Given the description of an element on the screen output the (x, y) to click on. 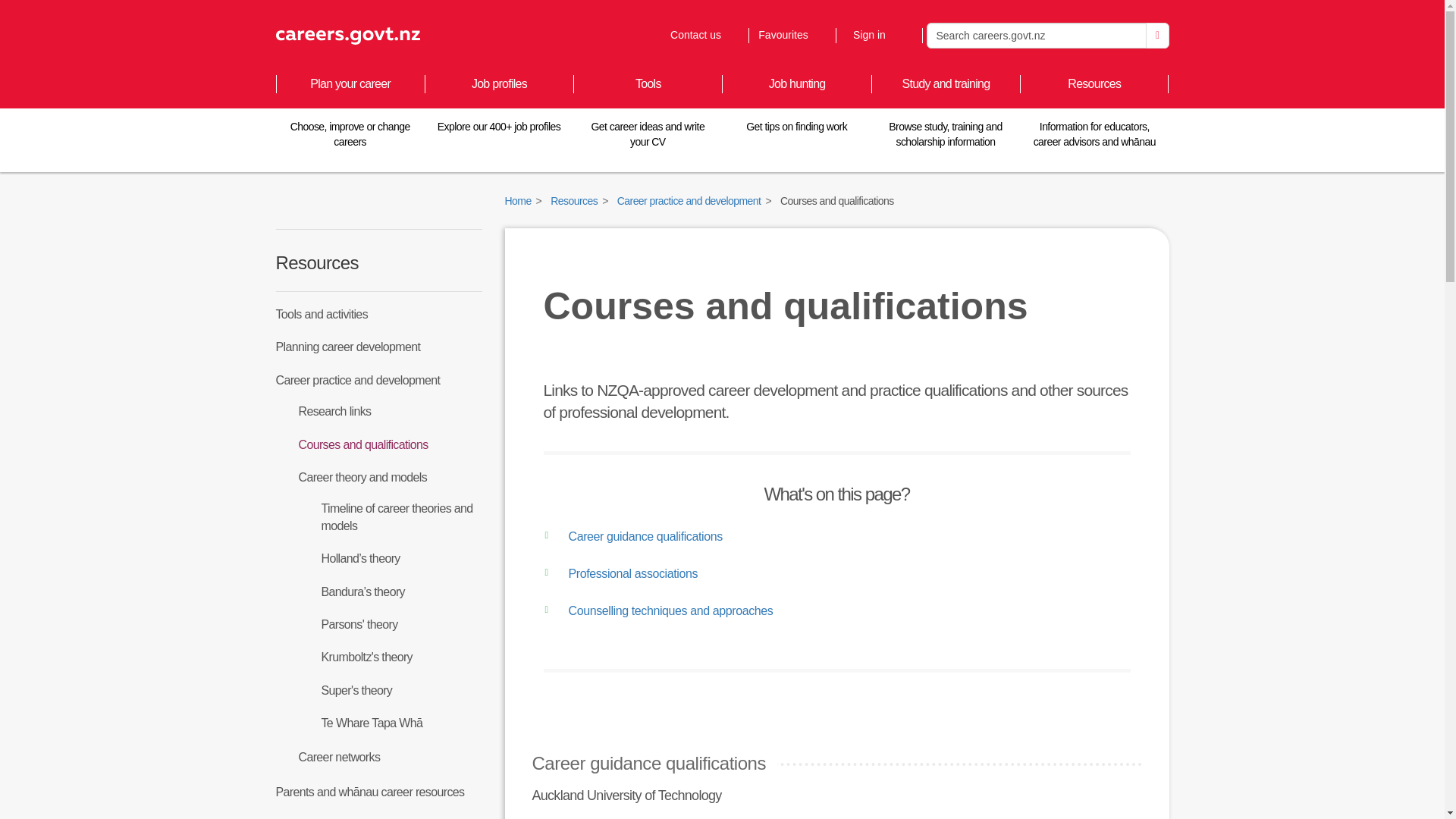
Sign in (878, 35)
Favourites (704, 35)
Search (791, 35)
Career guidance qualifications (1157, 35)
Search (632, 537)
Counselling techniques and approaches (1036, 35)
Professional associations (658, 612)
